Given the description of an element on the screen output the (x, y) to click on. 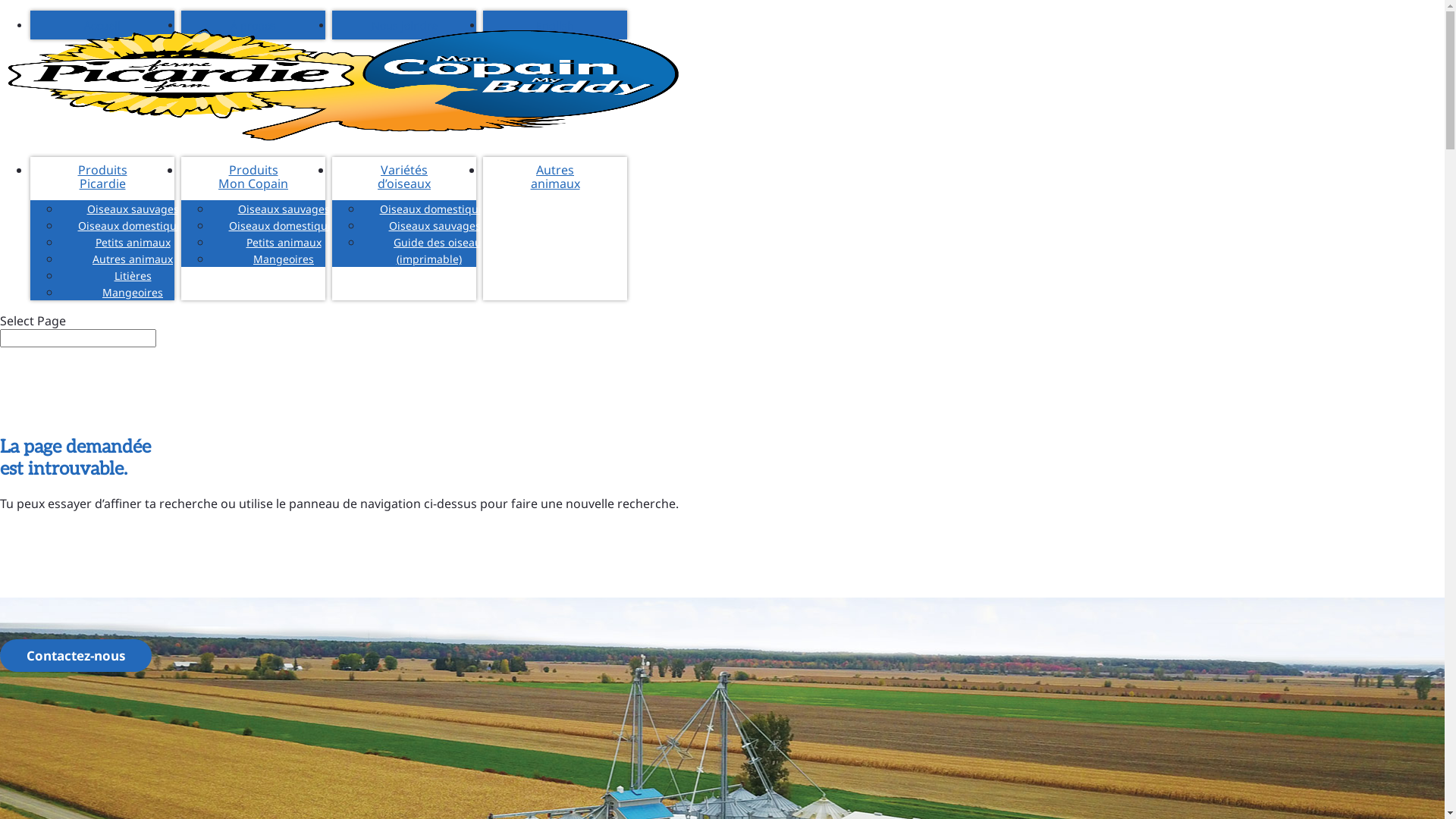
Oiseaux sauvages Element type: text (434, 225)
Autres
animaux Element type: text (555, 176)
Mangeoires Element type: text (132, 292)
Petits animaux Element type: text (132, 241)
Accueil Element type: text (102, 24)
Oiseaux domestiques Element type: text (434, 208)
Oiseaux domestiques Element type: text (282, 225)
Contactez-nous Element type: text (75, 655)
Oiseaux sauvages Element type: text (132, 208)
Produits
Picardie Element type: text (102, 176)
Petits animaux Element type: text (283, 241)
Guide des oiseaux (imprimable) Element type: text (434, 250)
Nous joindre Element type: text (404, 24)
Autres animaux Element type: text (132, 258)
Oiseaux domestiques Element type: text (132, 225)
Produits
Mon Copain Element type: text (253, 176)
Oiseaux sauvages Element type: text (282, 208)
Mangeoires Element type: text (283, 258)
English Element type: text (555, 24)
Search for: Element type: hover (78, 338)
